Given the description of an element on the screen output the (x, y) to click on. 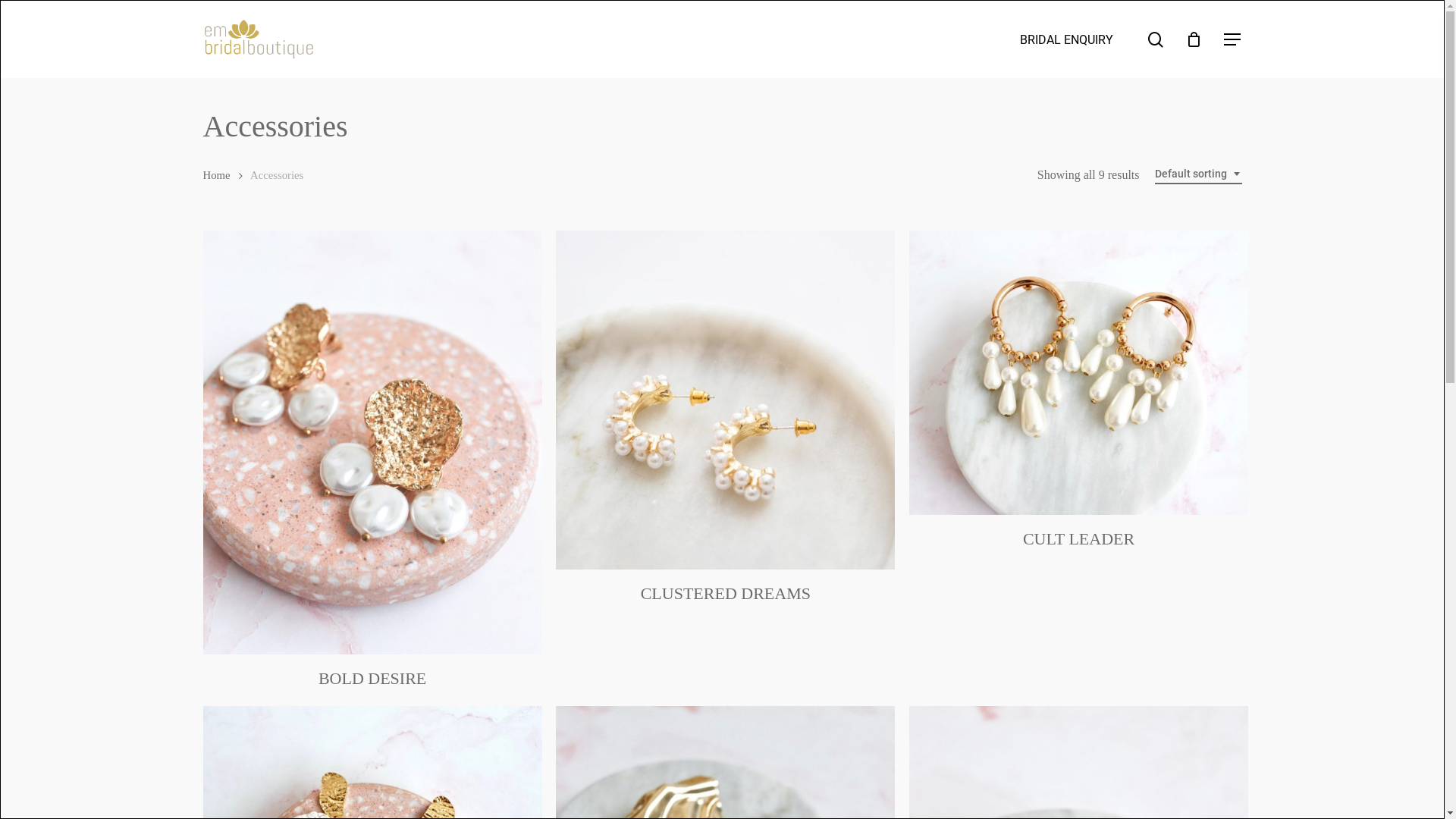
search Element type: text (1155, 39)
BRIDAL ENQUIRY Element type: text (1065, 39)
Home Element type: text (216, 175)
Menu Element type: text (1232, 39)
